Given the description of an element on the screen output the (x, y) to click on. 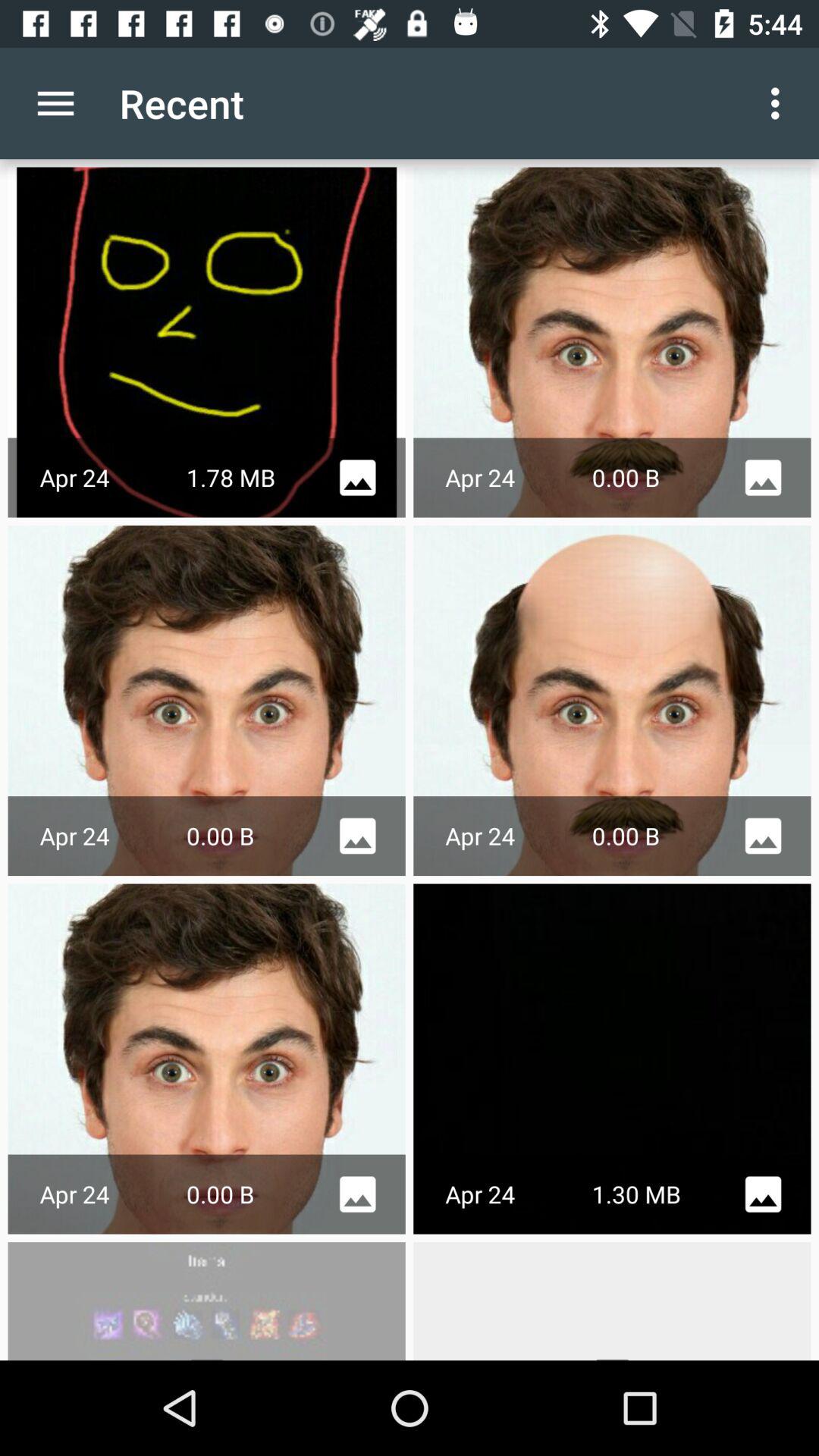
turn on item next to recent icon (779, 103)
